Given the description of an element on the screen output the (x, y) to click on. 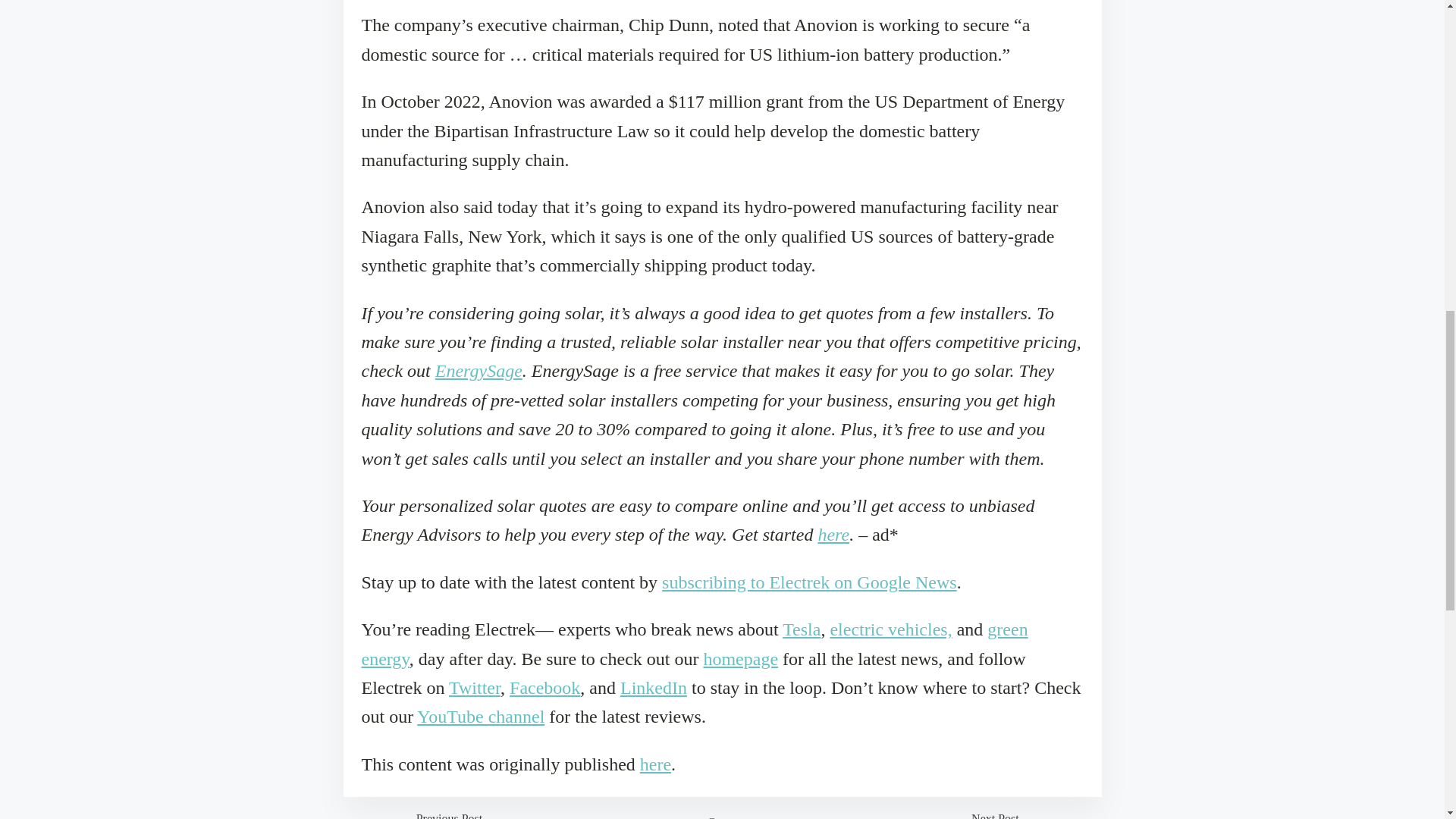
electric vehicles, (890, 629)
YouTube channel (480, 716)
here (655, 763)
Tesla (802, 629)
LinkedIn (653, 687)
green energy (694, 643)
Read More (722, 815)
Facebook (544, 687)
Twitter (474, 687)
homepage (740, 659)
EnergySage (478, 370)
here (832, 534)
subscribing to Electrek on Google News (809, 582)
